Given the description of an element on the screen output the (x, y) to click on. 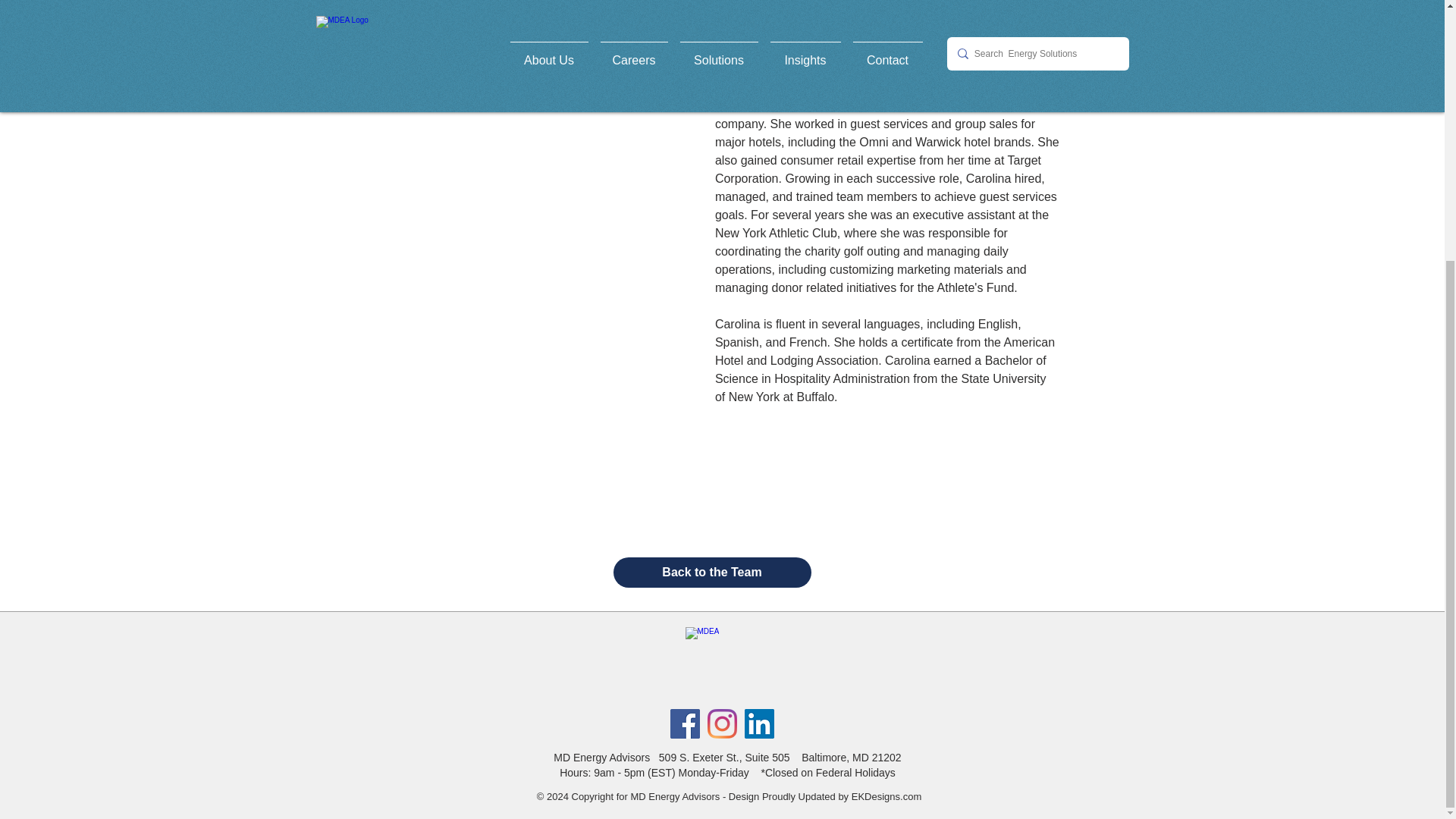
Back to the Team (711, 572)
EKDesigns.com (886, 796)
Carolina Valerio.png (516, 45)
